Given the description of an element on the screen output the (x, y) to click on. 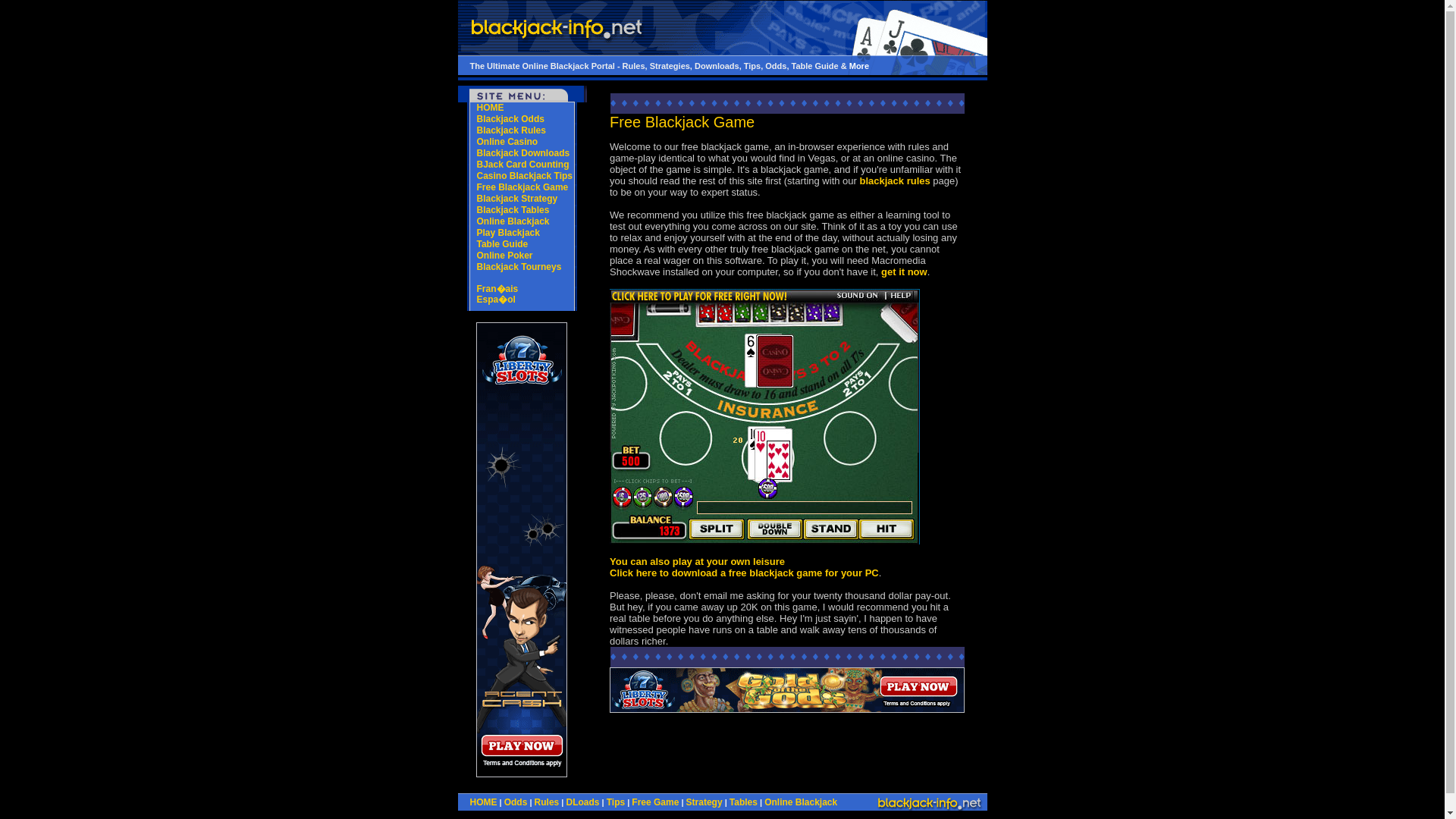
BJack Card Counting (522, 163)
Blackjack Tourneys (518, 266)
Blackjack Downloads (522, 153)
Odds (515, 801)
Free Game (654, 801)
Casino Blackjack Tips (524, 175)
Strategy (703, 801)
Online Casino (506, 141)
Rules (546, 801)
Tips (615, 801)
Blackjack Odds (509, 118)
Online Blackjack (512, 221)
Free Blackjack Game (521, 186)
More (858, 64)
get it now (903, 271)
